Given the description of an element on the screen output the (x, y) to click on. 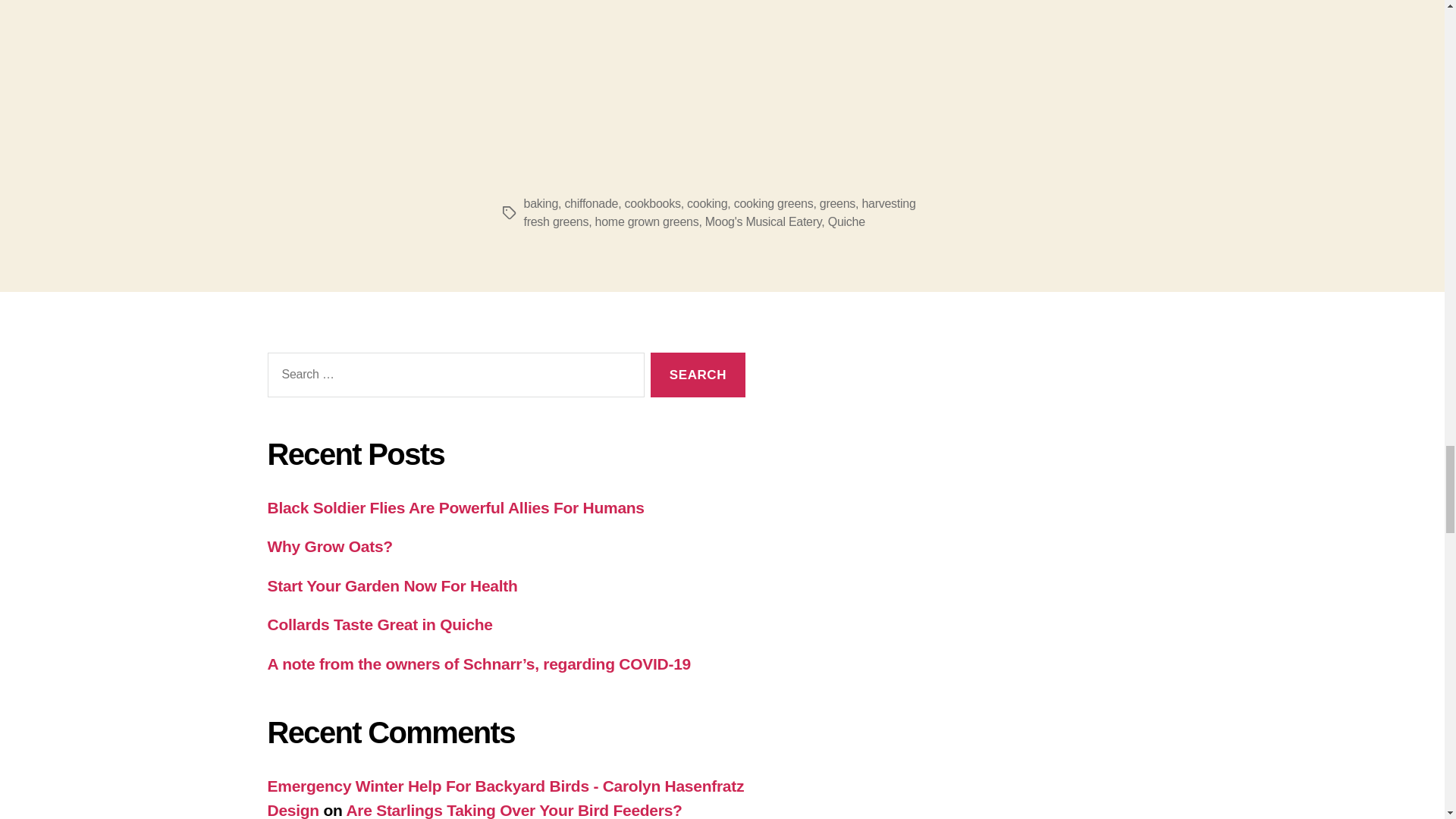
cooking greens (773, 203)
chiffonade (590, 203)
cookbooks (652, 203)
Search (697, 374)
greens (837, 203)
baking (539, 203)
Search (697, 374)
cooking (706, 203)
